Given the description of an element on the screen output the (x, y) to click on. 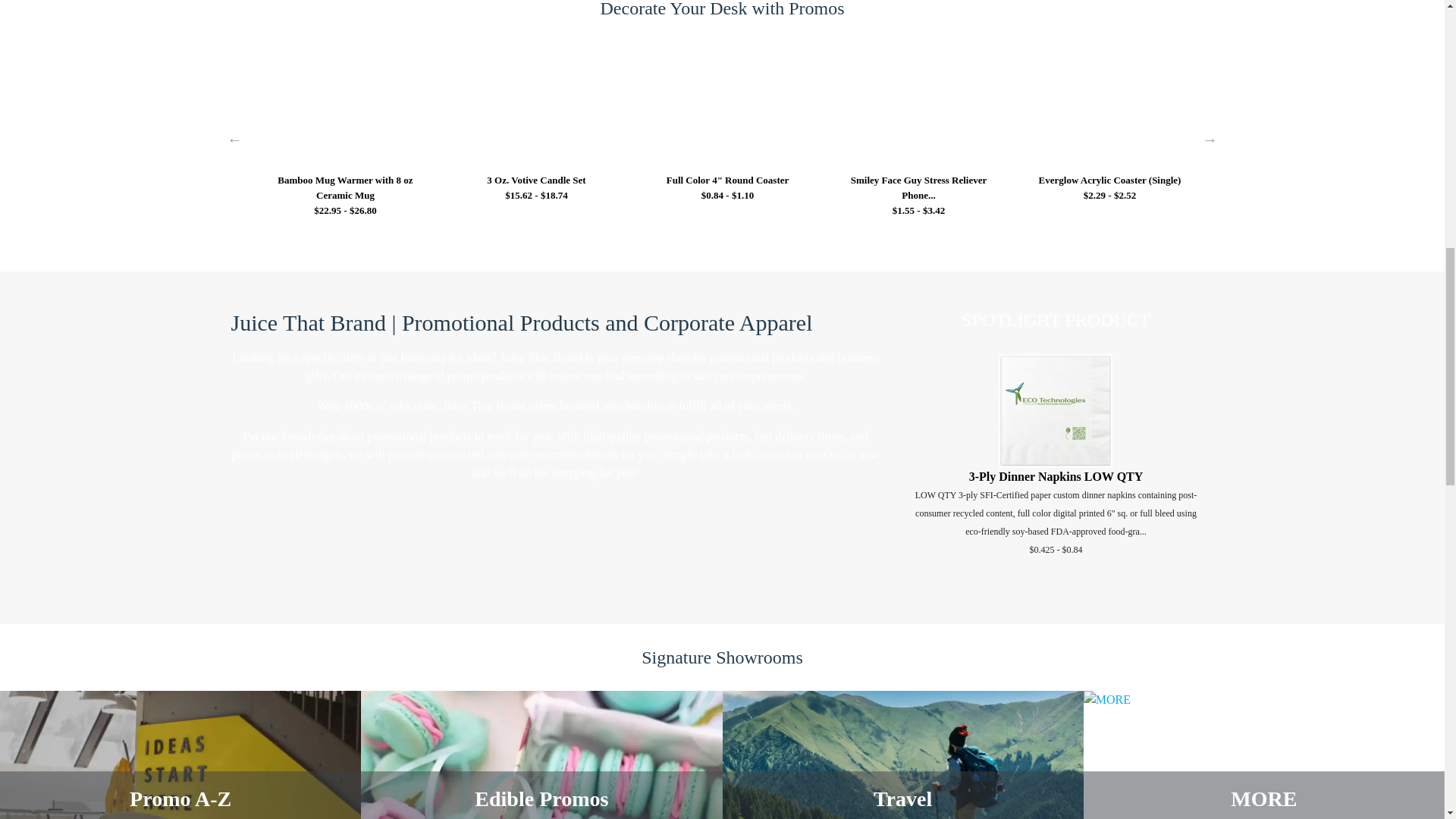
Promo A-Z (180, 755)
Edible Promos (541, 755)
Travel (902, 755)
